Given the description of an element on the screen output the (x, y) to click on. 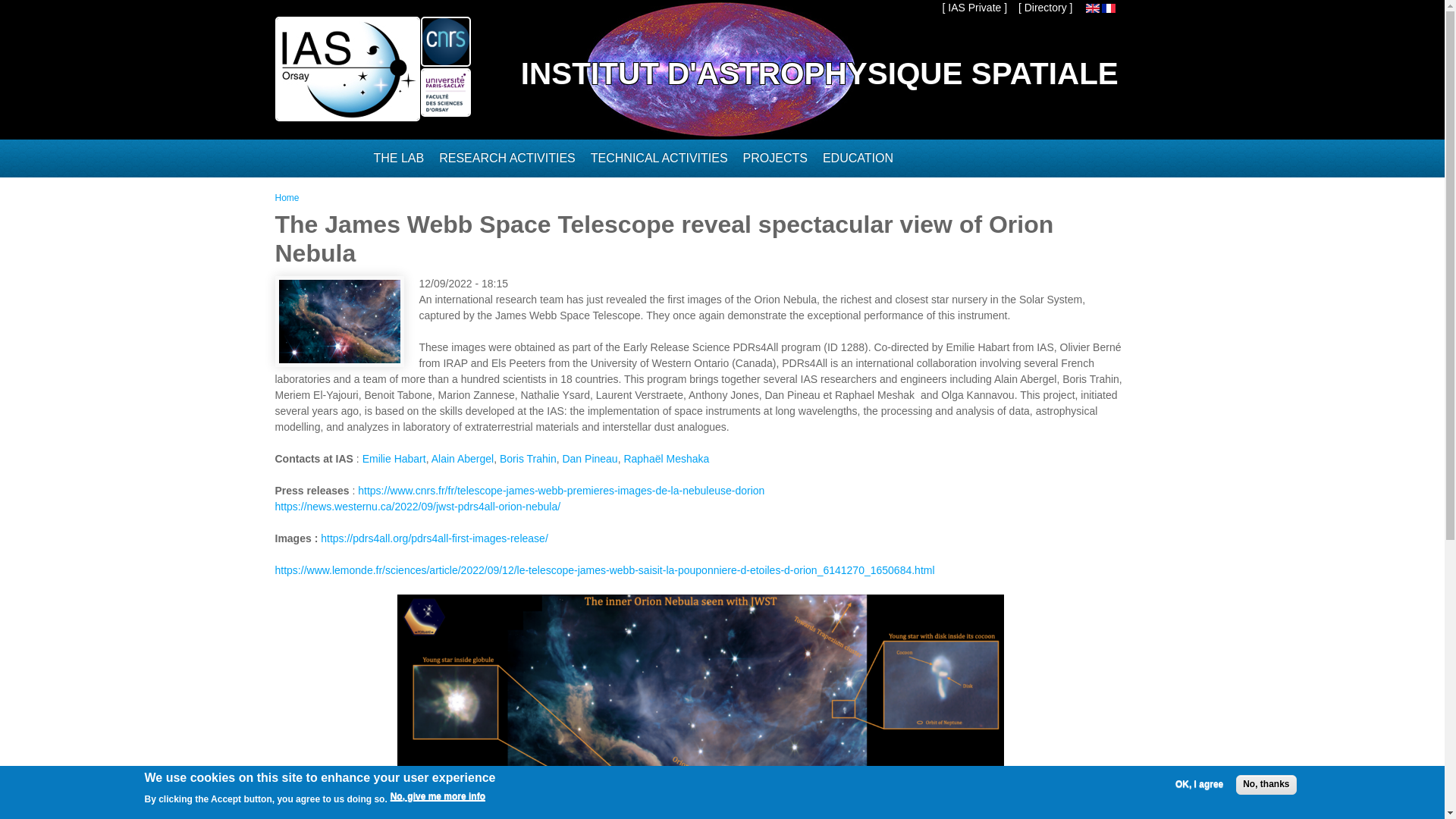
English (1092, 8)
PROJECTS (782, 157)
INSTITUT D'ASTROPHYSIQUE SPATIALE (819, 73)
